Given the description of an element on the screen output the (x, y) to click on. 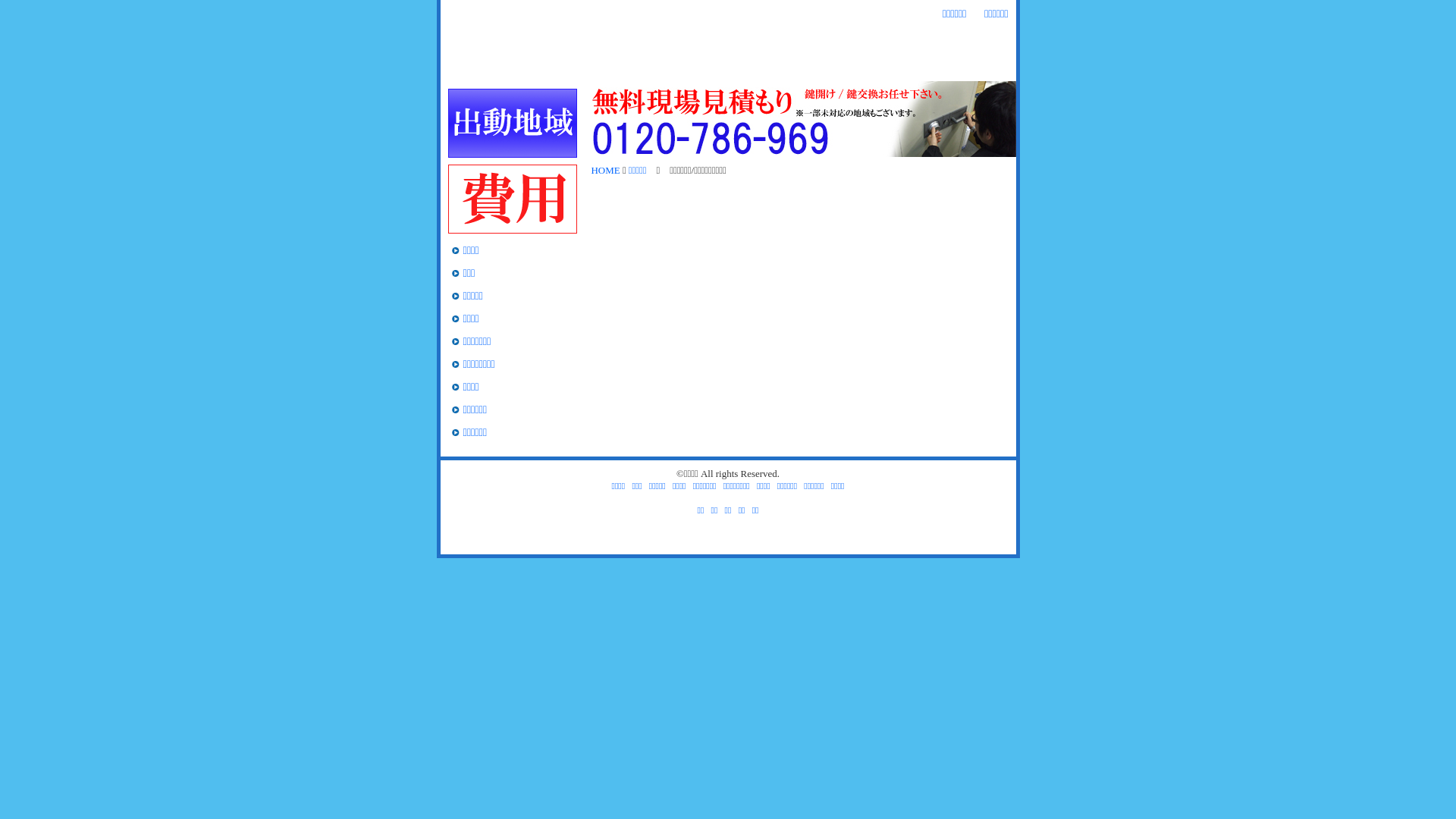
HOME Element type: text (468, 68)
HOME Element type: text (605, 169)
